Given the description of an element on the screen output the (x, y) to click on. 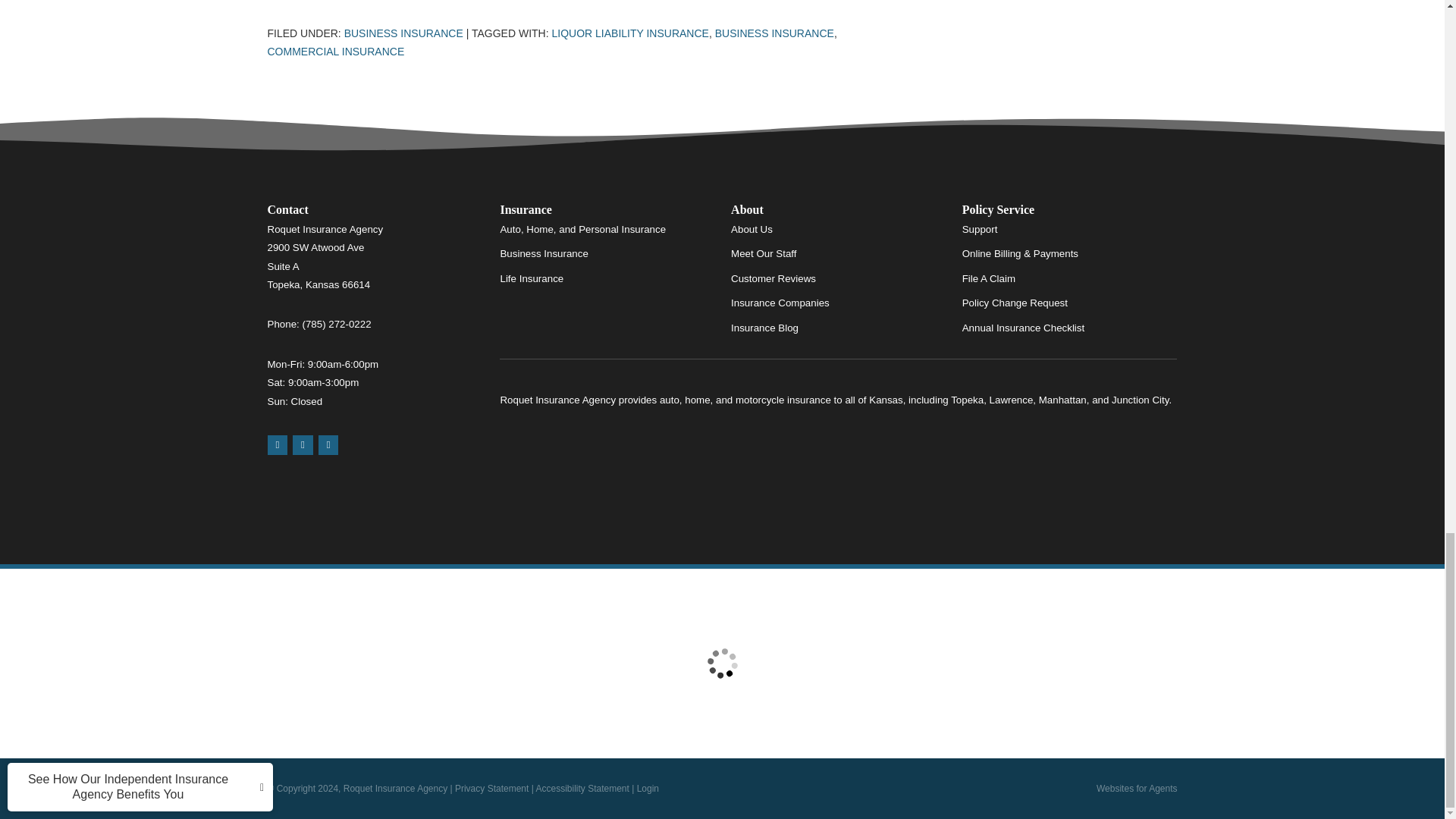
Yelp (302, 444)
Commercial Insurance (335, 51)
Business Insurance (403, 33)
Liquor Liability Insurance (629, 33)
Business Insurance (774, 33)
Facebook (328, 444)
Google Maps (276, 444)
